Given the description of an element on the screen output the (x, y) to click on. 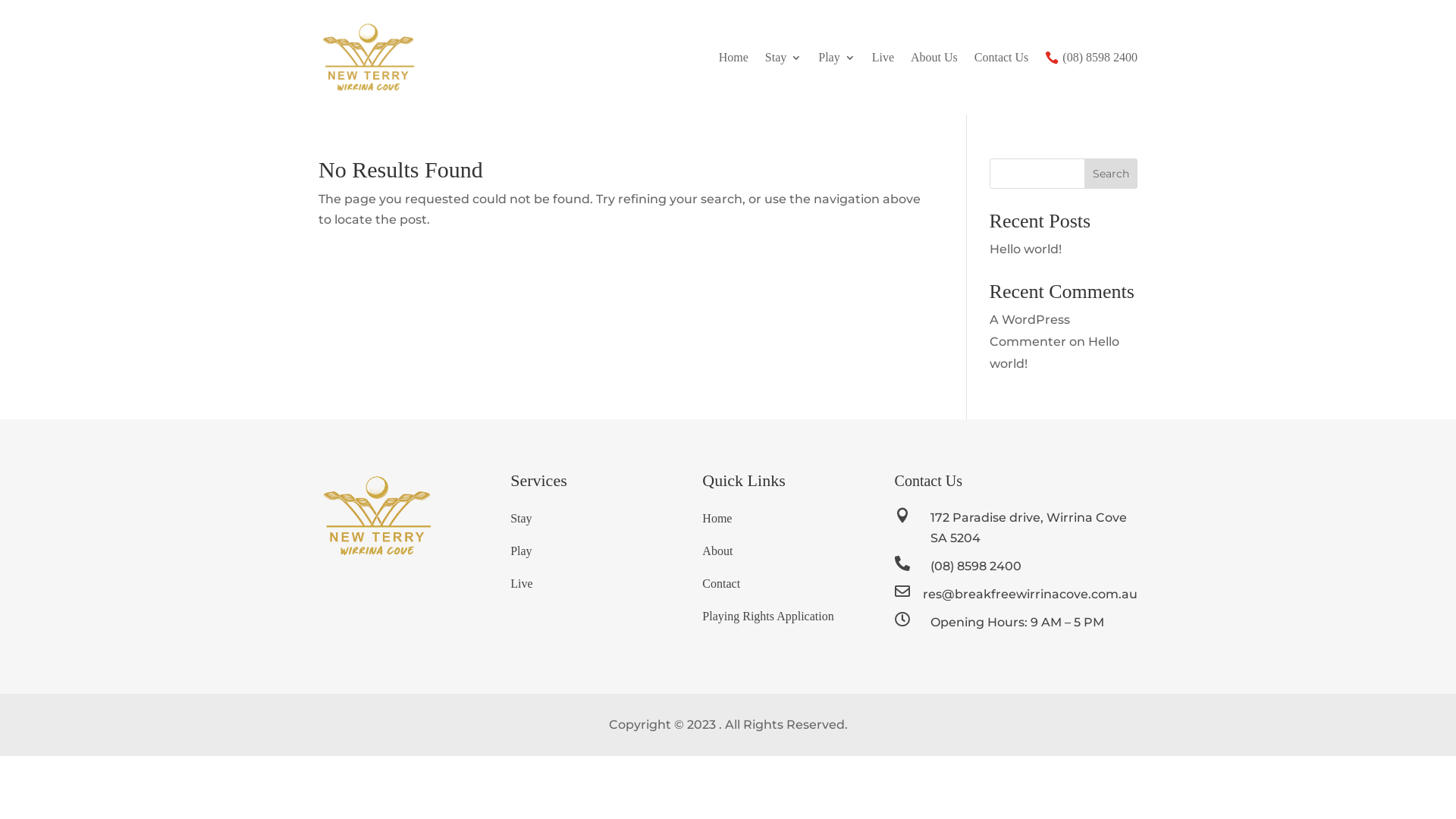
Live Element type: text (521, 583)
(08) 8598 2400 Element type: text (975, 565)
Playing Rights Application Element type: text (767, 615)
Hello world! Element type: text (1054, 352)
Hello world! Element type: text (1025, 248)
Home Element type: text (733, 57)
Contact Element type: text (721, 583)
Play Element type: text (836, 57)
Search Element type: text (1110, 173)
res@breakfreewirrinacove.com.au Element type: text (1029, 593)
image-002 Element type: hover (377, 514)
Contact Us Element type: text (1001, 57)
Stay Element type: text (783, 57)
172 Paradise drive, Wirrina Cove SA 5204 Element type: text (1028, 527)
About Element type: text (717, 550)
Play Element type: text (520, 550)
Stay Element type: text (520, 517)
Home Element type: text (716, 517)
Live Element type: text (883, 57)
A WordPress Commenter Element type: text (1029, 330)
About Us Element type: text (933, 57)
